Given the description of an element on the screen output the (x, y) to click on. 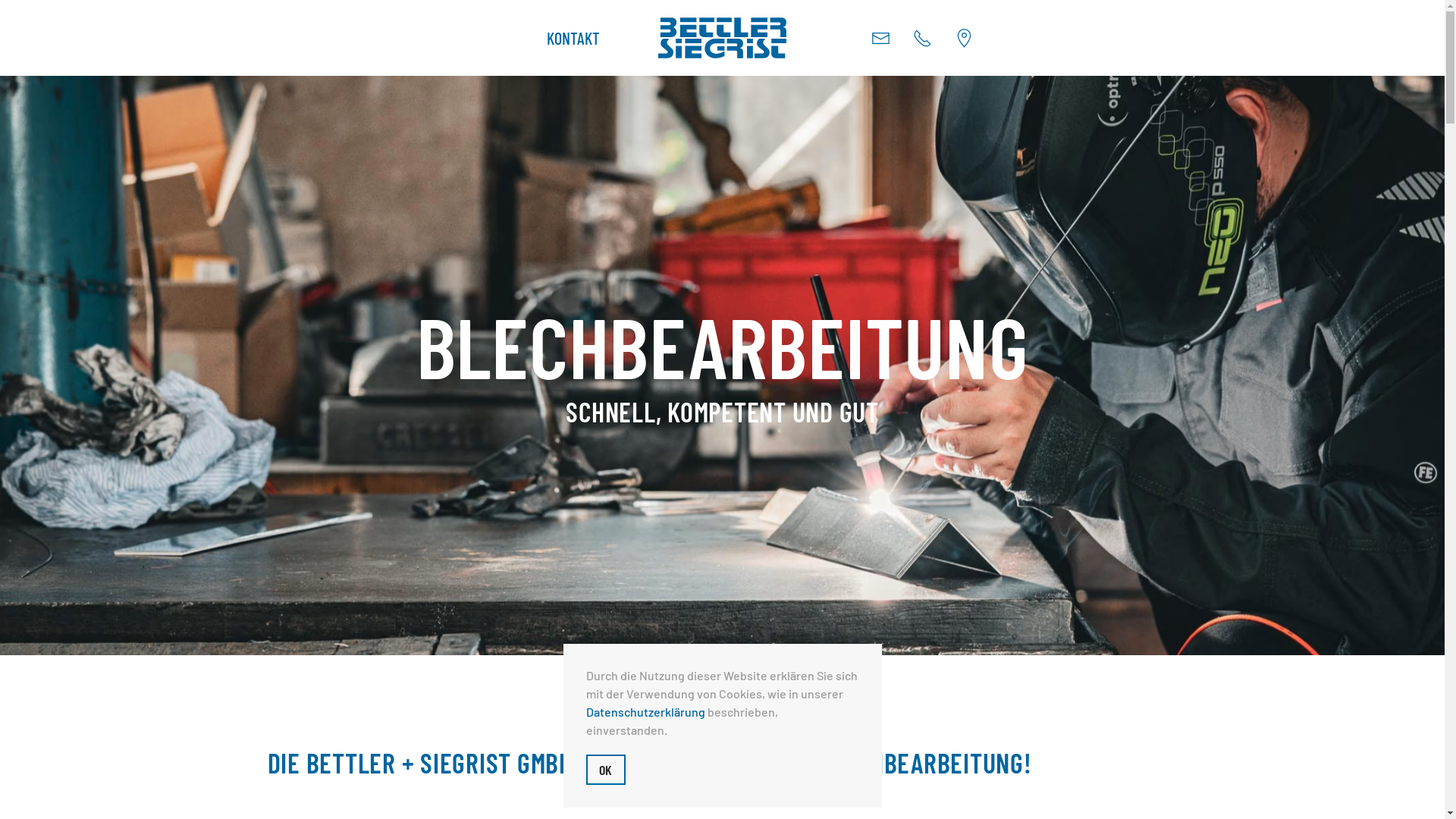
KONTAKT Element type: text (573, 37)
OK Element type: text (605, 769)
